Given the description of an element on the screen output the (x, y) to click on. 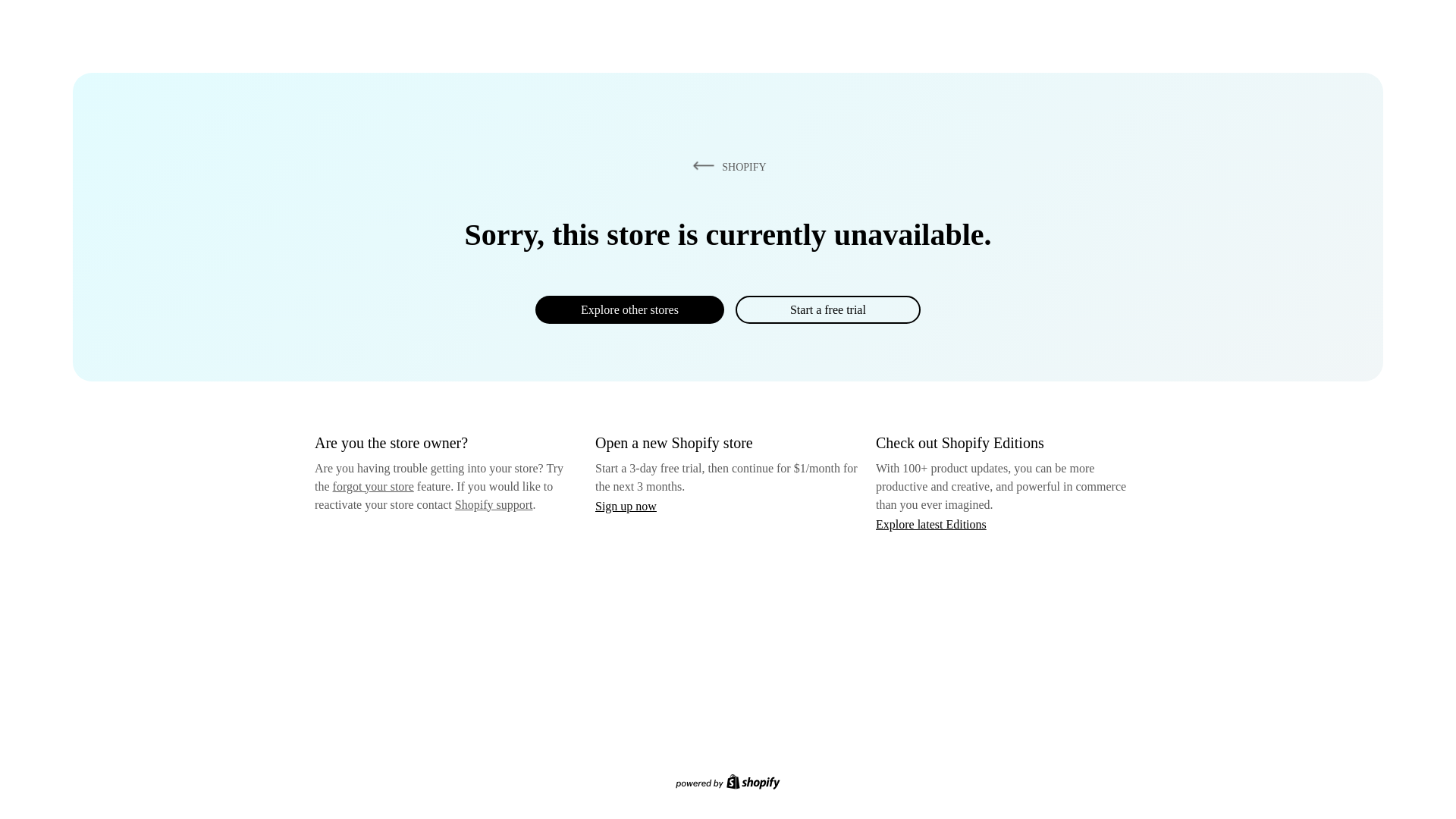
Explore other stores (629, 309)
forgot your store (373, 486)
Sign up now (625, 505)
SHOPIFY (726, 166)
Explore latest Editions (931, 523)
Start a free trial (827, 309)
Shopify support (493, 504)
